Given the description of an element on the screen output the (x, y) to click on. 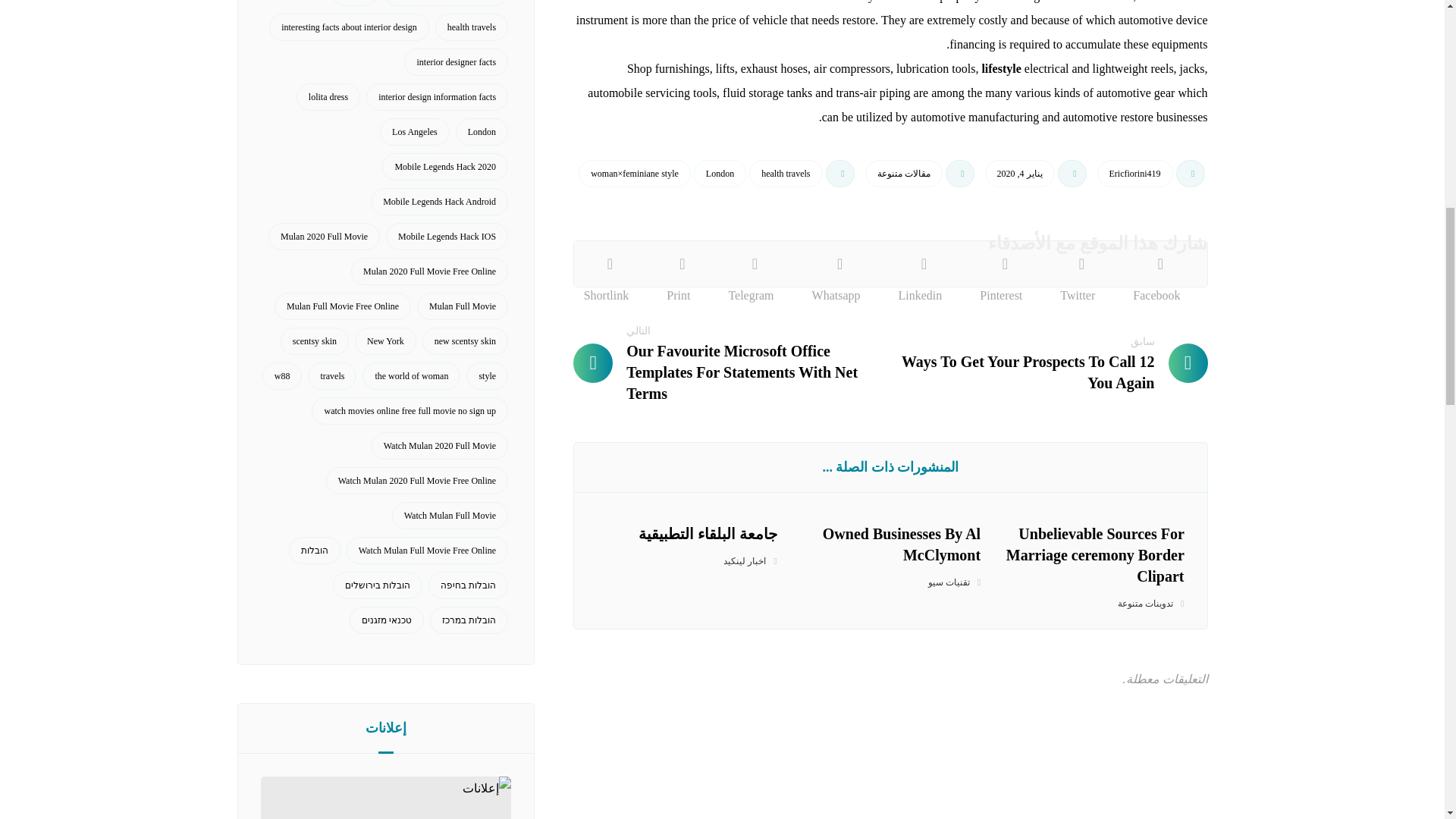
Ericfiorini419 (1135, 173)
lifestyle (1000, 68)
Posted by (1152, 176)
Published on (1037, 176)
Tags (717, 176)
